Given the description of an element on the screen output the (x, y) to click on. 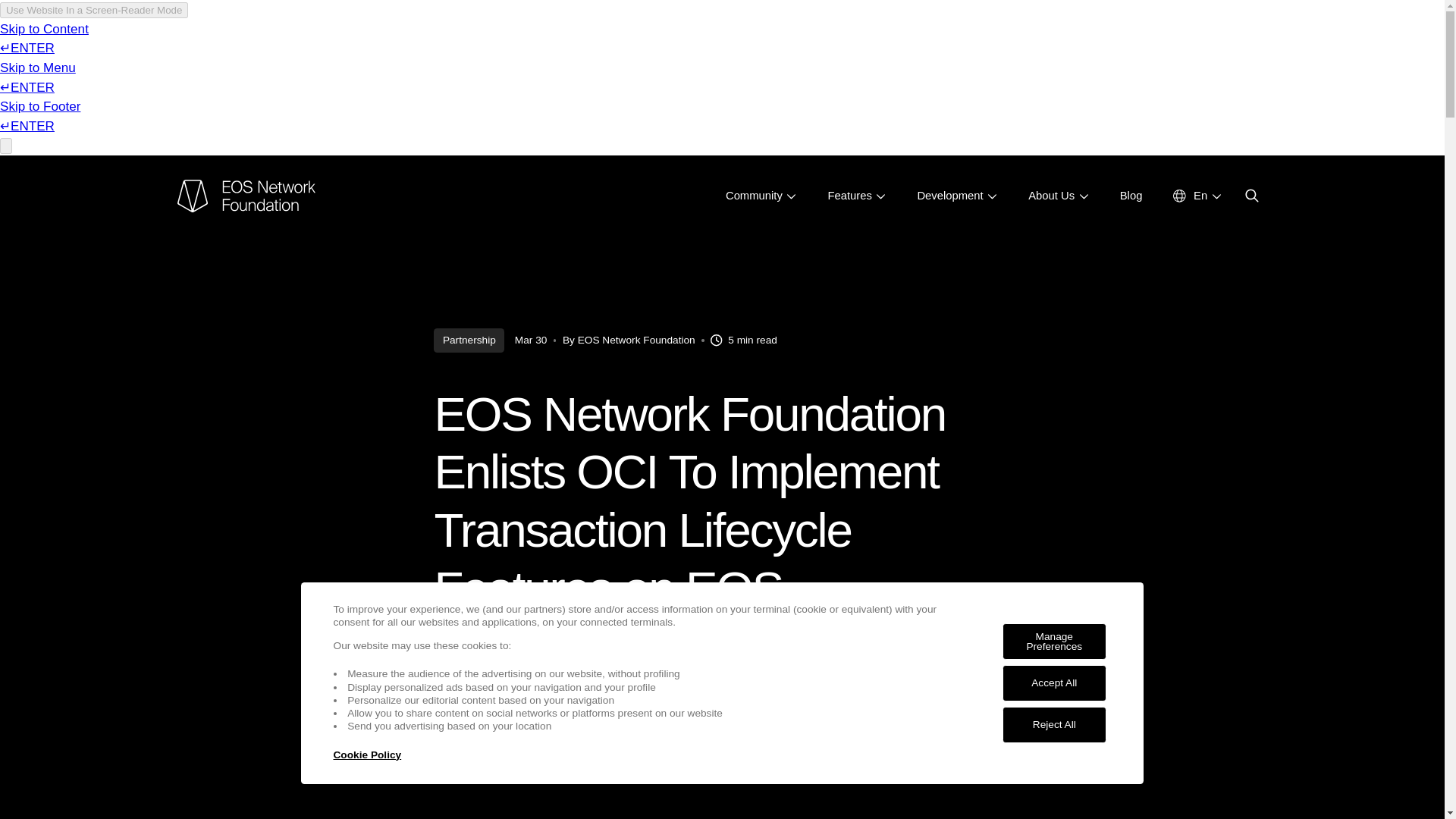
Features (856, 195)
Reject All (1054, 724)
About Us (721, 340)
Skip to content (1057, 195)
Cookie Policy (1054, 683)
Development (367, 754)
Blog (957, 195)
En (1130, 195)
Community (1197, 195)
En (760, 195)
Manage Preferences (1197, 195)
